Given the description of an element on the screen output the (x, y) to click on. 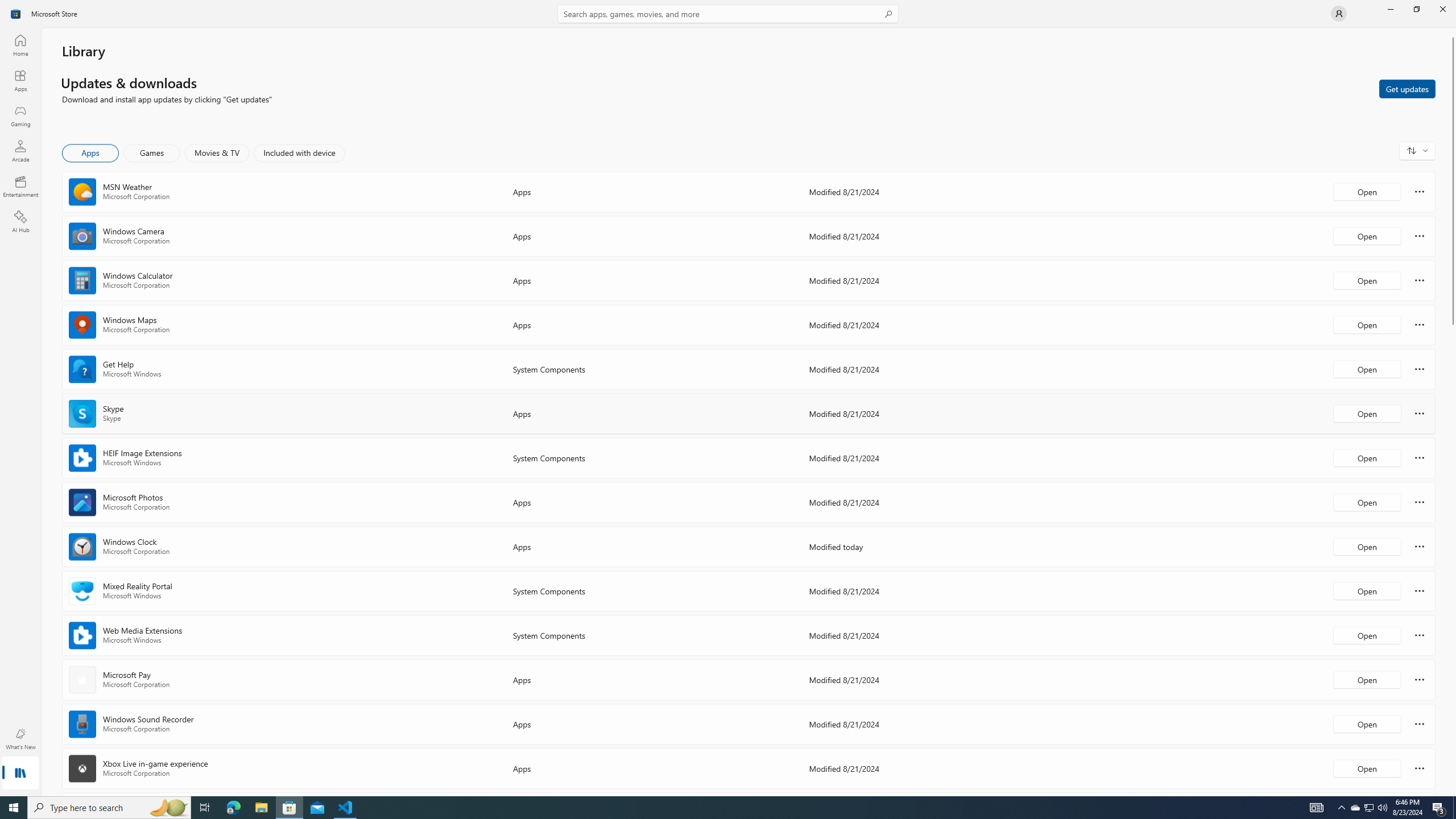
Included with device (299, 153)
Search (727, 13)
Home (20, 45)
Games (151, 153)
Entertainment (20, 185)
User profile (1338, 13)
Restore Microsoft Store (1416, 9)
Vertical Small Increase (1452, 792)
Apps (90, 153)
AI Hub (20, 221)
Open (1366, 768)
AutomationID: NavigationControl (728, 398)
